Given the description of an element on the screen output the (x, y) to click on. 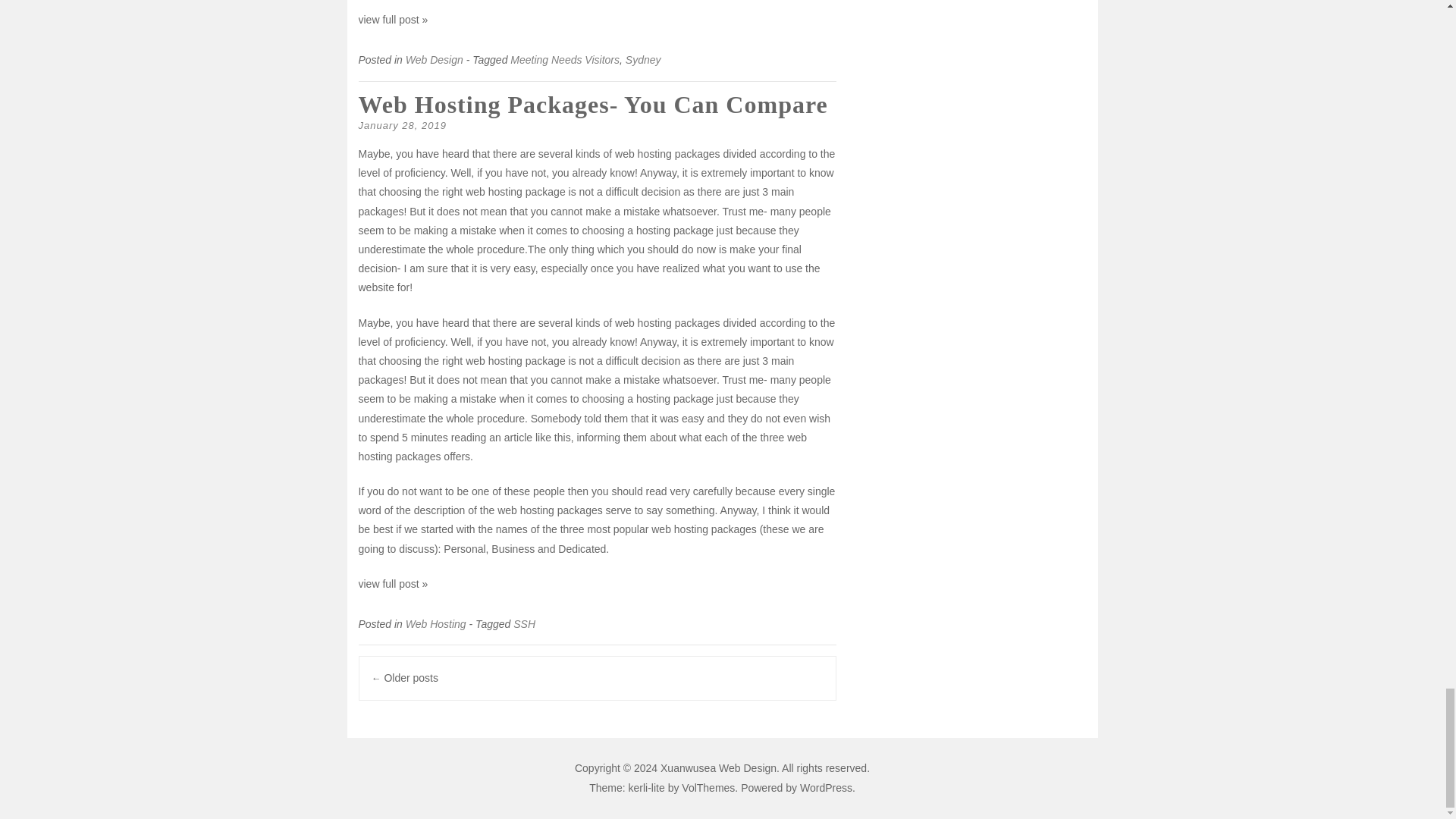
VolThemes (708, 787)
Xuanwusea Web Design (718, 767)
WordPress (825, 787)
